Given the description of an element on the screen output the (x, y) to click on. 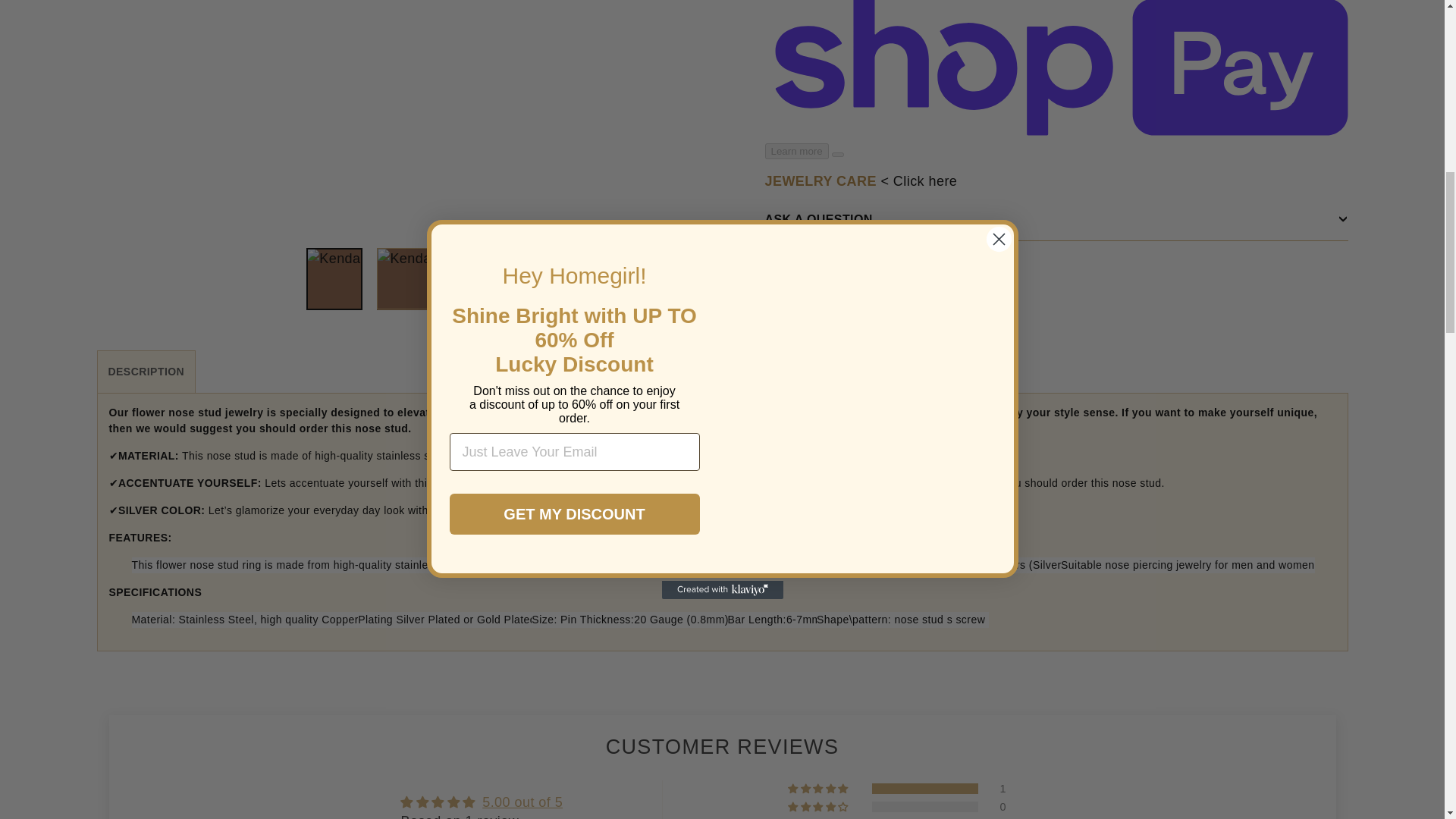
Share on Facebook (796, 273)
Pin on Pinterest (954, 273)
Tweet on Twitter (876, 273)
